Given the description of an element on the screen output the (x, y) to click on. 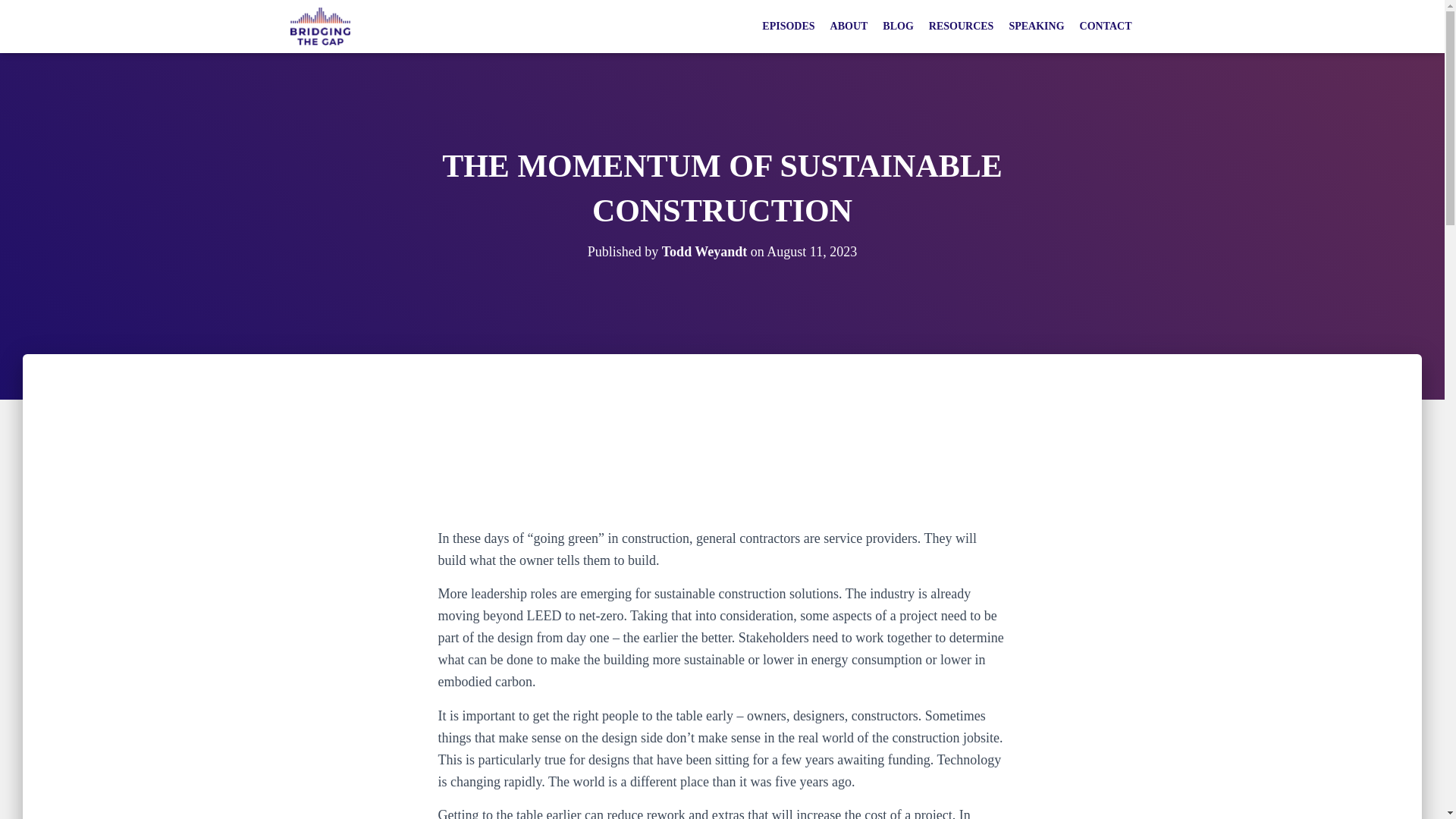
RESOURCES (961, 26)
Bridging the Gap Podcast (320, 26)
Why Construction Should Become Manufacturing (722, 463)
Todd Weyandt (705, 251)
CONTACT (1105, 26)
ABOUT (849, 26)
BLOG (897, 26)
SPEAKING (1036, 26)
EPISODES (788, 26)
